Given the description of an element on the screen output the (x, y) to click on. 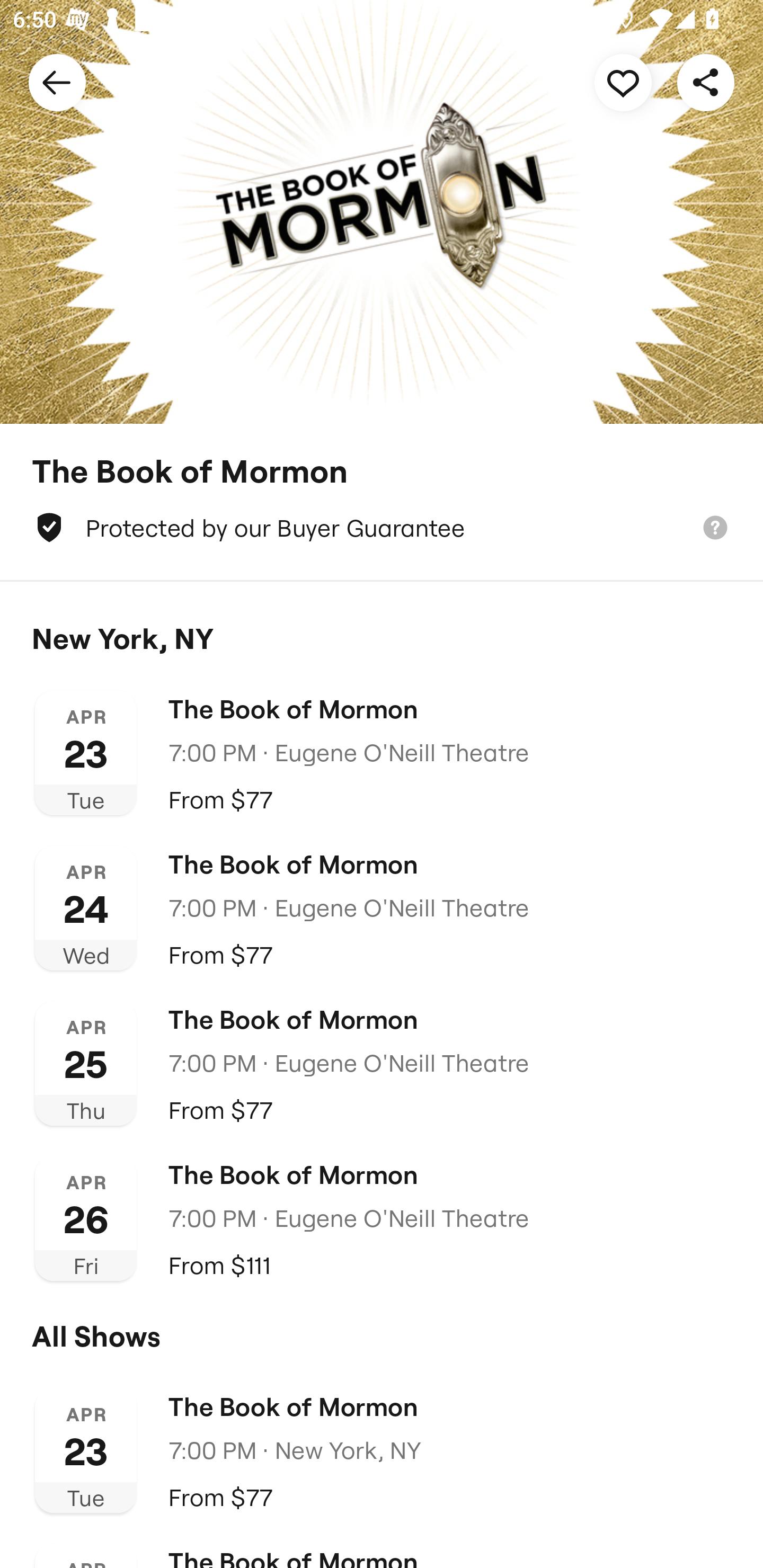
Back (57, 81)
Track this performer (623, 81)
Share this performer (705, 81)
Protected by our Buyer Guarantee Learn more (381, 527)
